Given the description of an element on the screen output the (x, y) to click on. 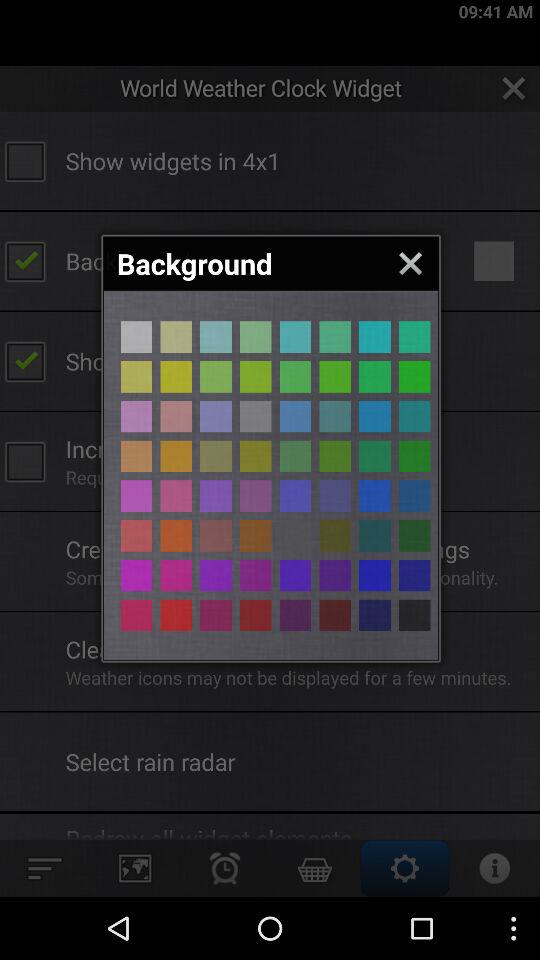
color selection (414, 376)
